Given the description of an element on the screen output the (x, y) to click on. 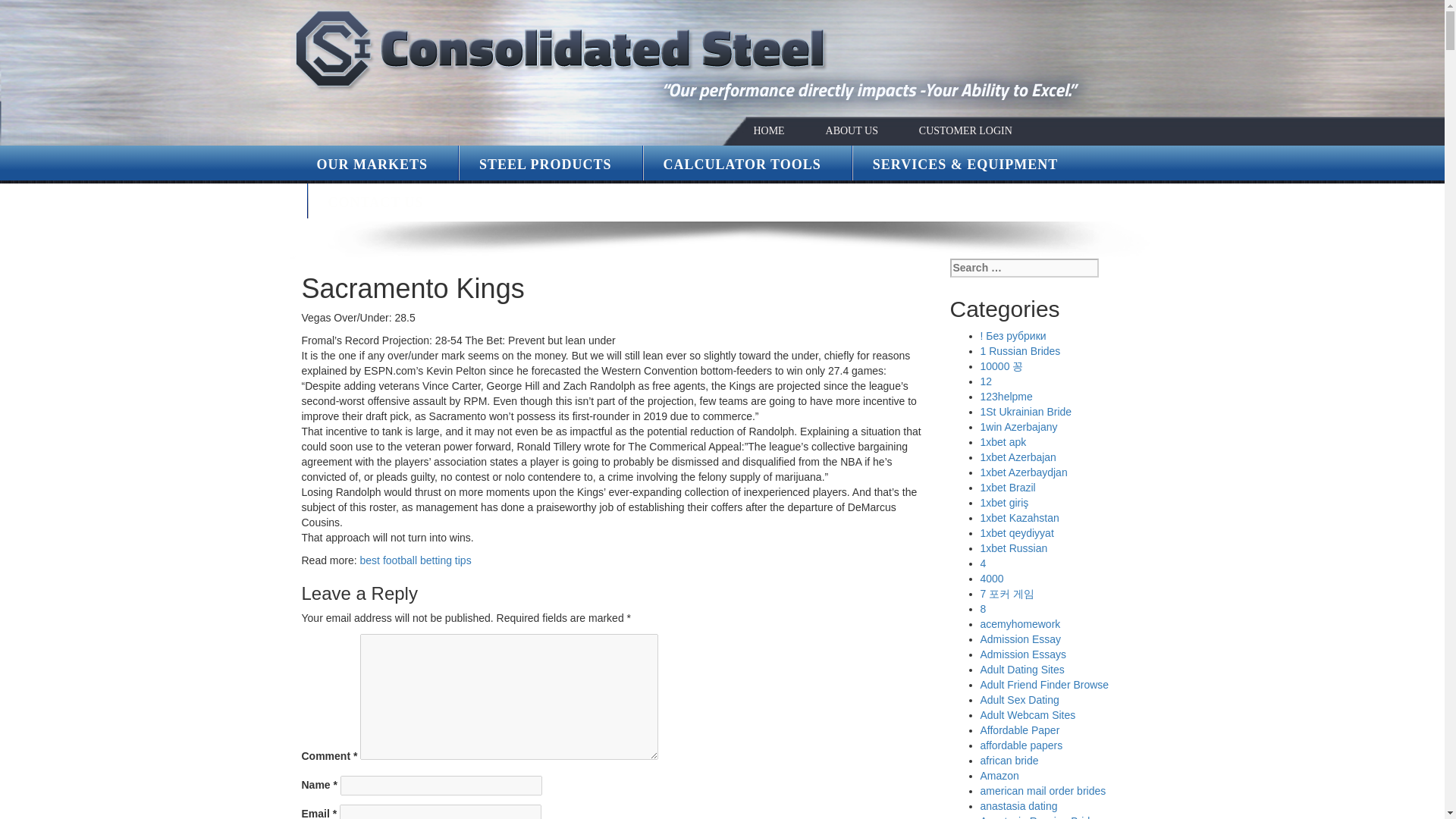
CONTACT US (375, 202)
HOME (768, 130)
1St Ukrainian Bride (1025, 411)
1xbet Azerbaydjan (1023, 472)
1xbet apk (1002, 441)
1xbet Brazil (1007, 487)
12 (985, 381)
1win Azerbajany (1018, 426)
best football betting tips (415, 560)
STEEL PRODUCTS (545, 164)
1xbet Azerbajan (1017, 457)
1xbet qeydiyyat (1015, 532)
